Given the description of an element on the screen output the (x, y) to click on. 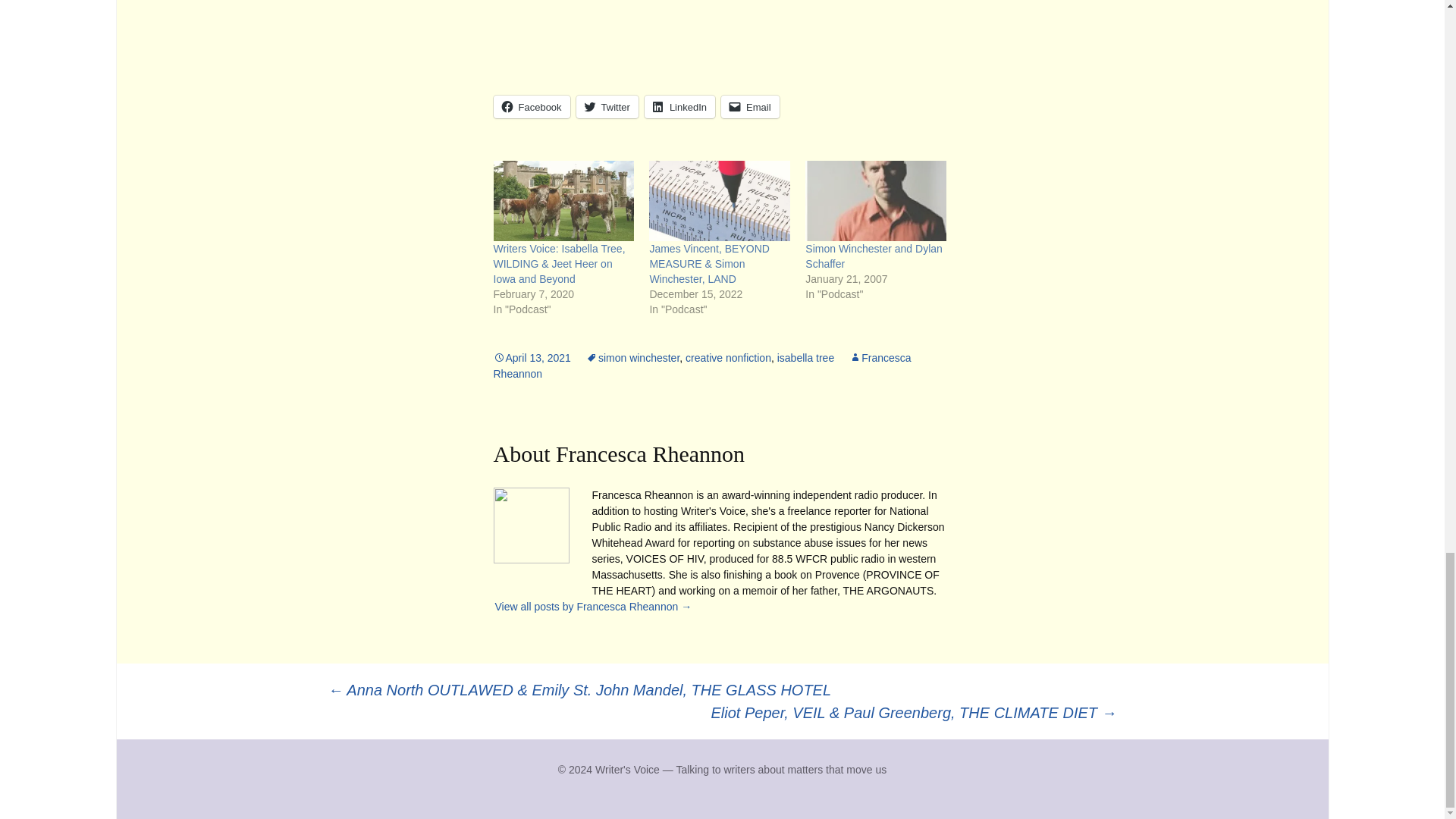
Click to email a link to a friend (749, 106)
Click to share on LinkedIn (679, 106)
Click to share on Twitter (607, 106)
Facebook (531, 106)
Click to share on Facebook (531, 106)
